Given the description of an element on the screen output the (x, y) to click on. 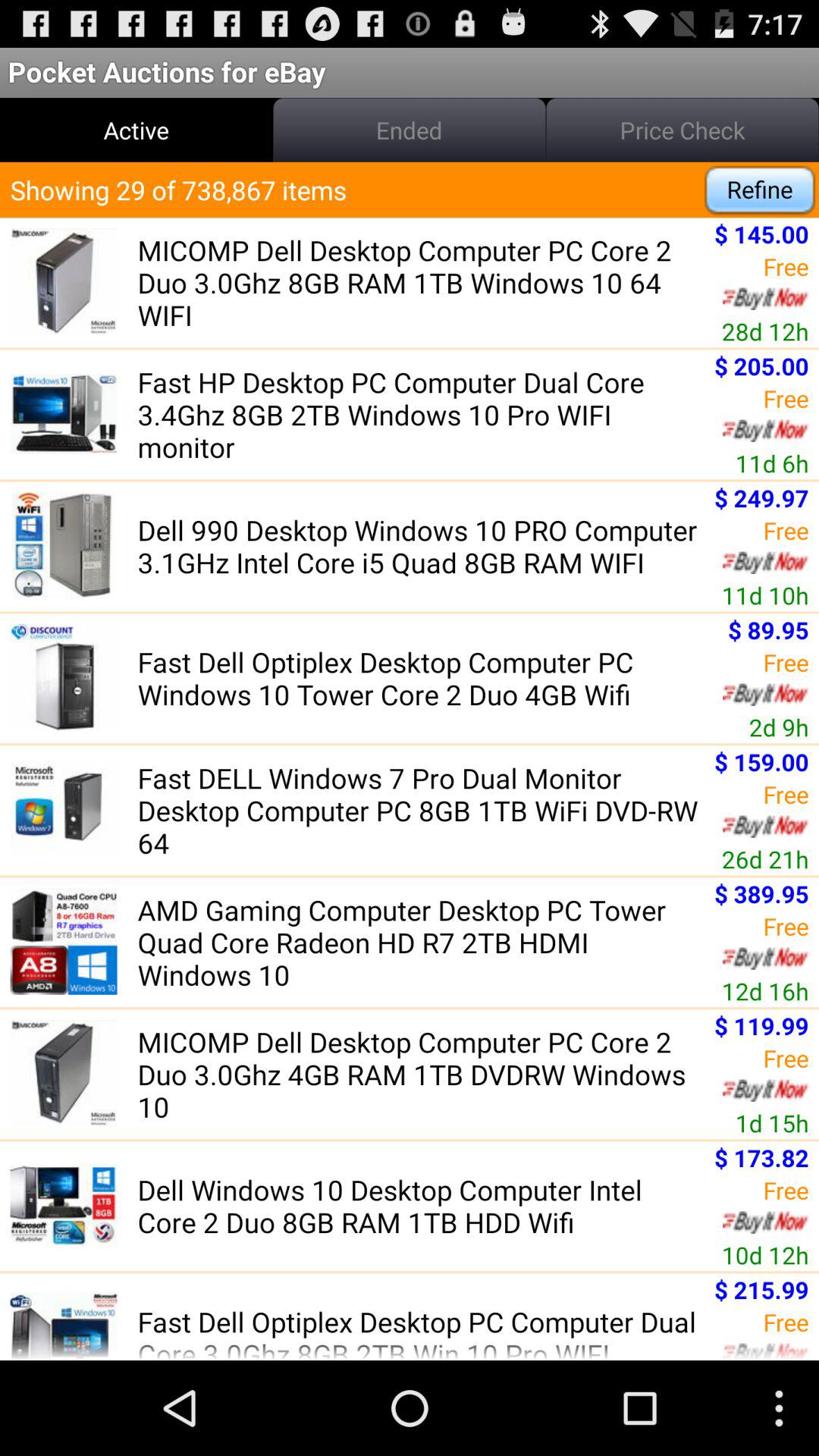
open item next to amd gaming computer icon (764, 990)
